Given the description of an element on the screen output the (x, y) to click on. 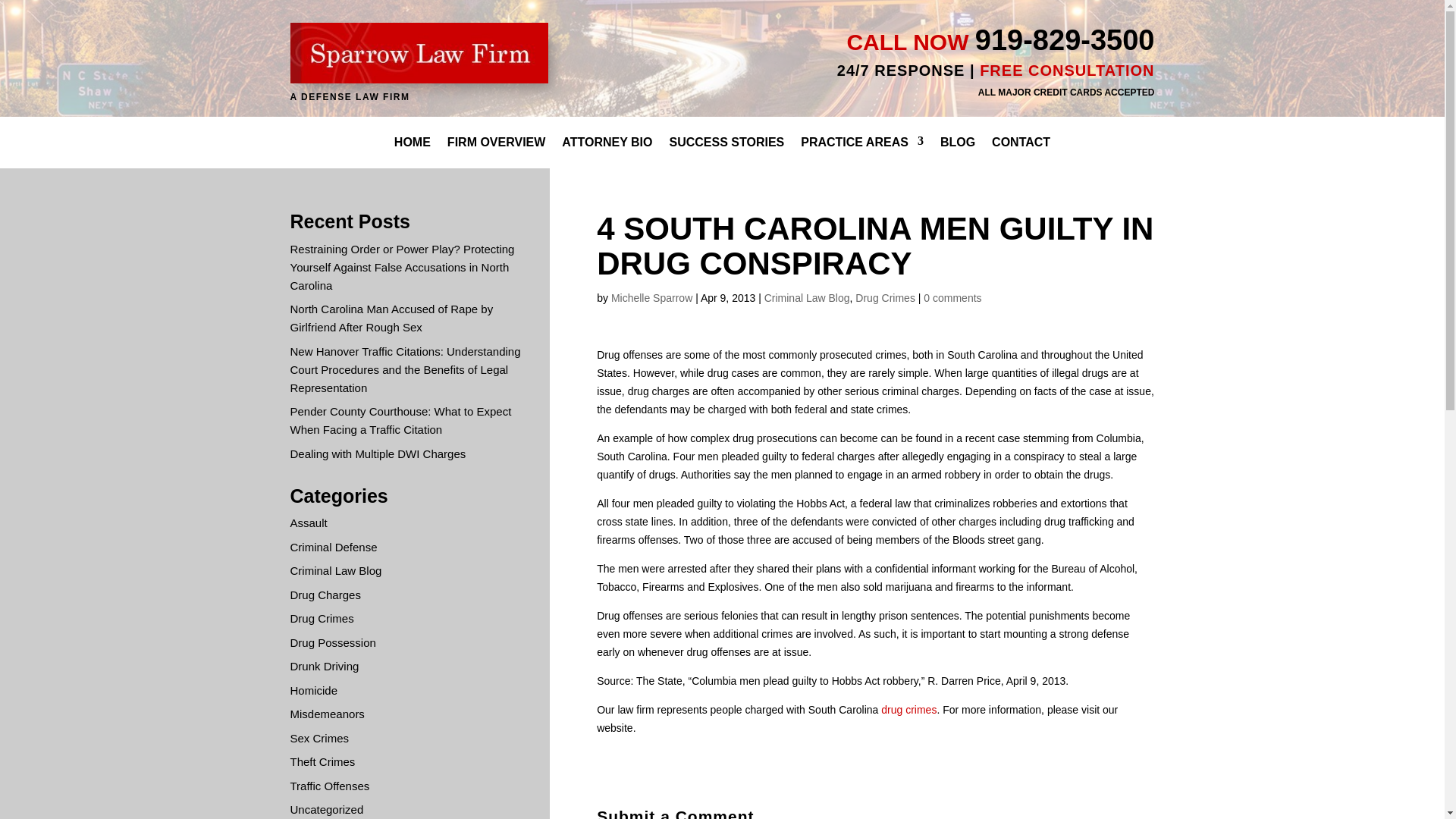
FIRM OVERVIEW (496, 142)
919-829-3500 (1064, 40)
ATTORNEY BIO (607, 142)
SUCCESS STORIES (726, 142)
Posts by Michelle Sparrow (652, 297)
PRACTICE AREAS (861, 142)
CONTACT (1020, 142)
FREE CONSULTATION (1066, 70)
